Given the description of an element on the screen output the (x, y) to click on. 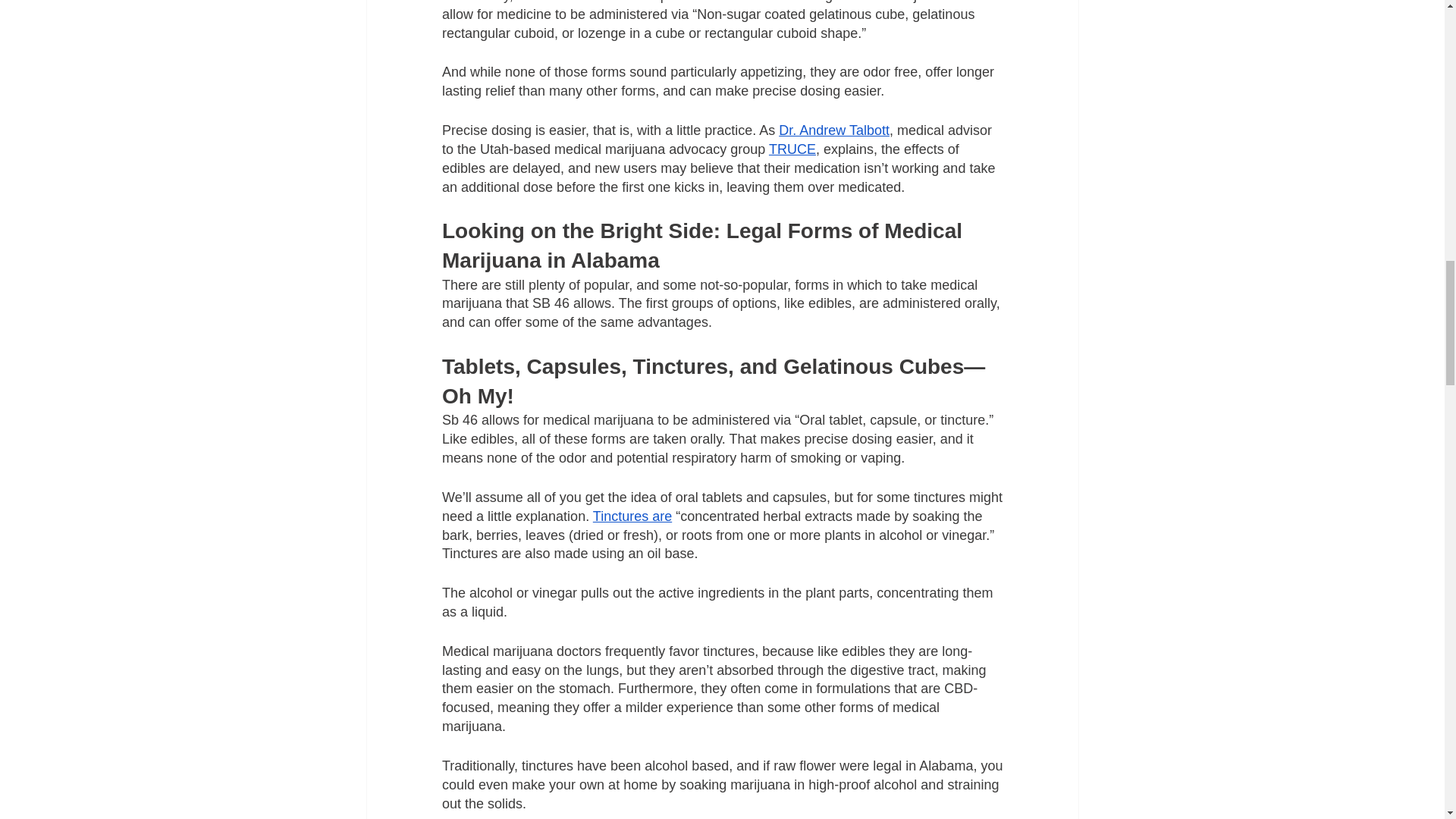
Dr. Andrew Talbott (833, 130)
Tinctures are (631, 516)
TRUCE (791, 149)
